Given the description of an element on the screen output the (x, y) to click on. 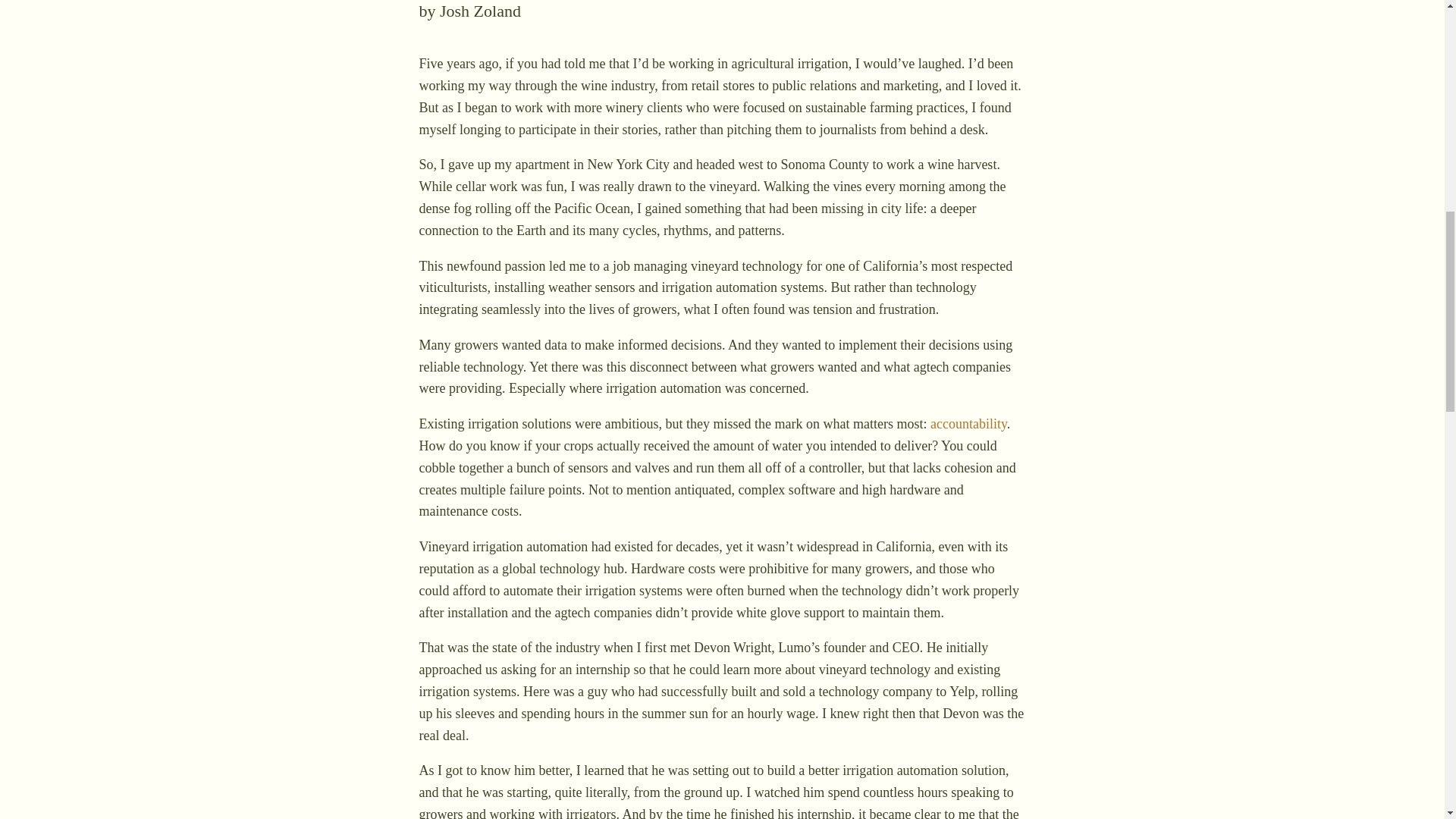
accountability (968, 423)
